Given the description of an element on the screen output the (x, y) to click on. 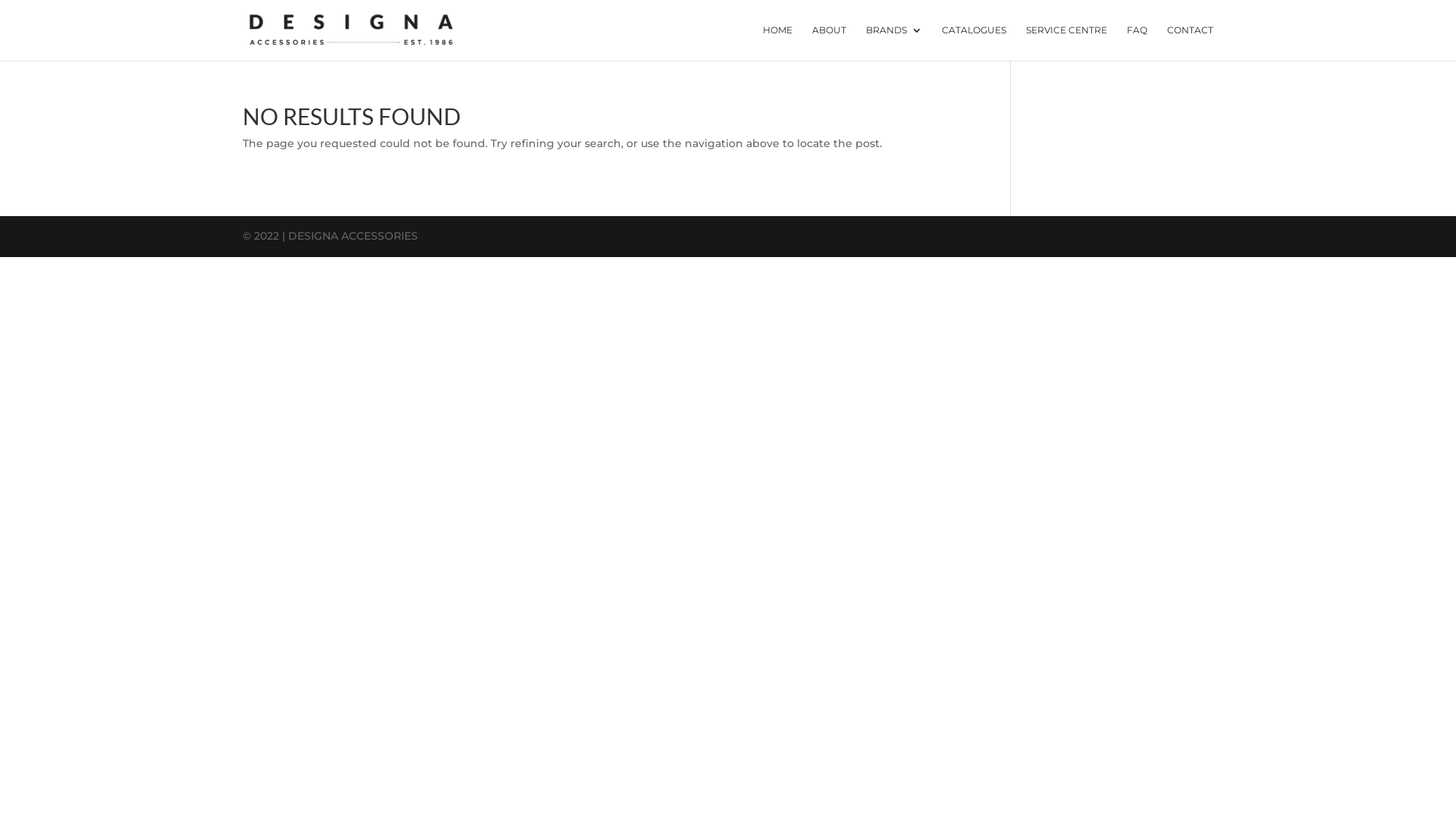
ABOUT Element type: text (829, 42)
CATALOGUES Element type: text (973, 42)
SERVICE CENTRE Element type: text (1066, 42)
HOME Element type: text (777, 42)
CONTACT Element type: text (1190, 42)
FAQ Element type: text (1136, 42)
BRANDS Element type: text (894, 42)
